Given the description of an element on the screen output the (x, y) to click on. 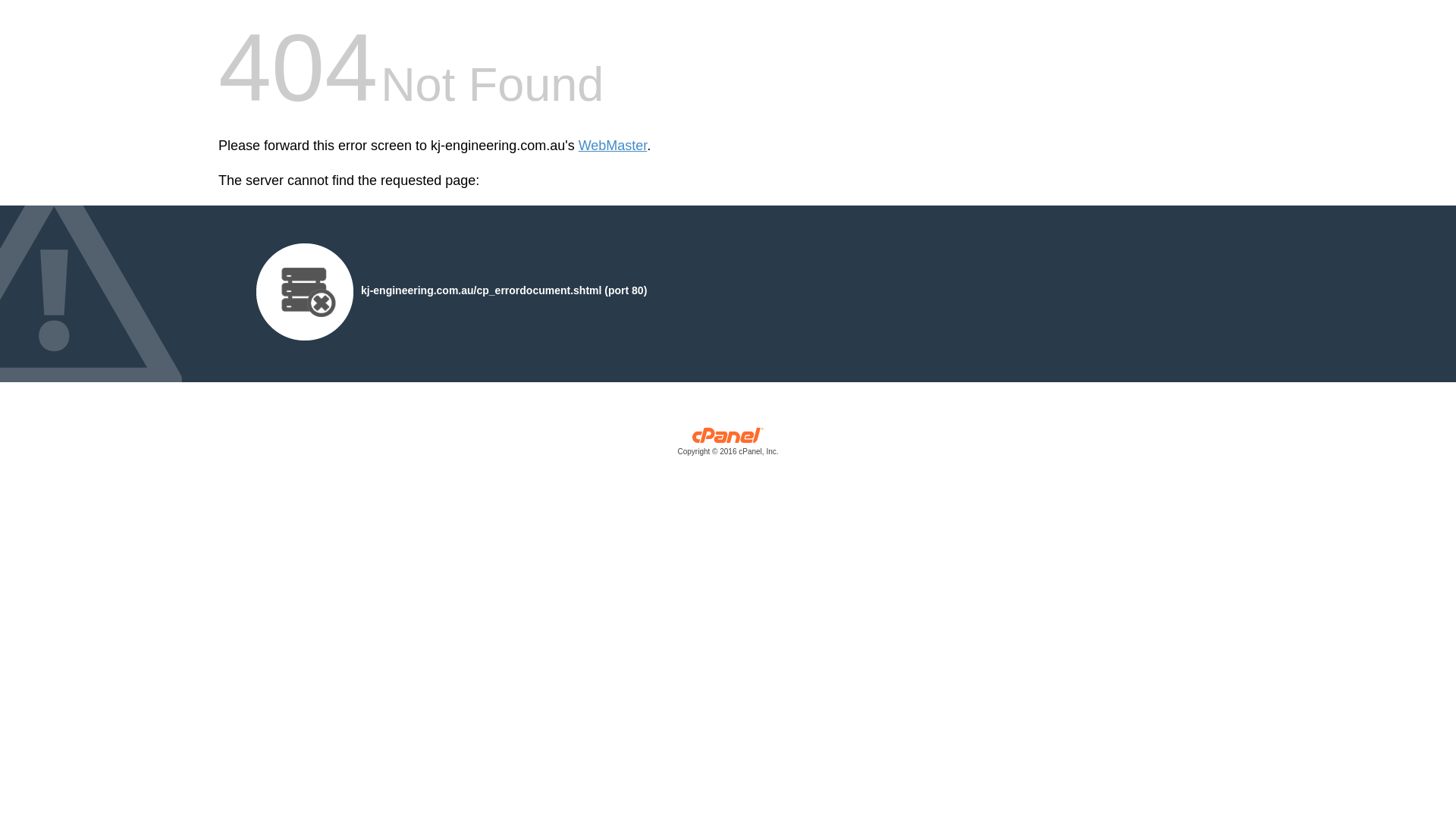
WebMaster Element type: text (612, 145)
